Given the description of an element on the screen output the (x, y) to click on. 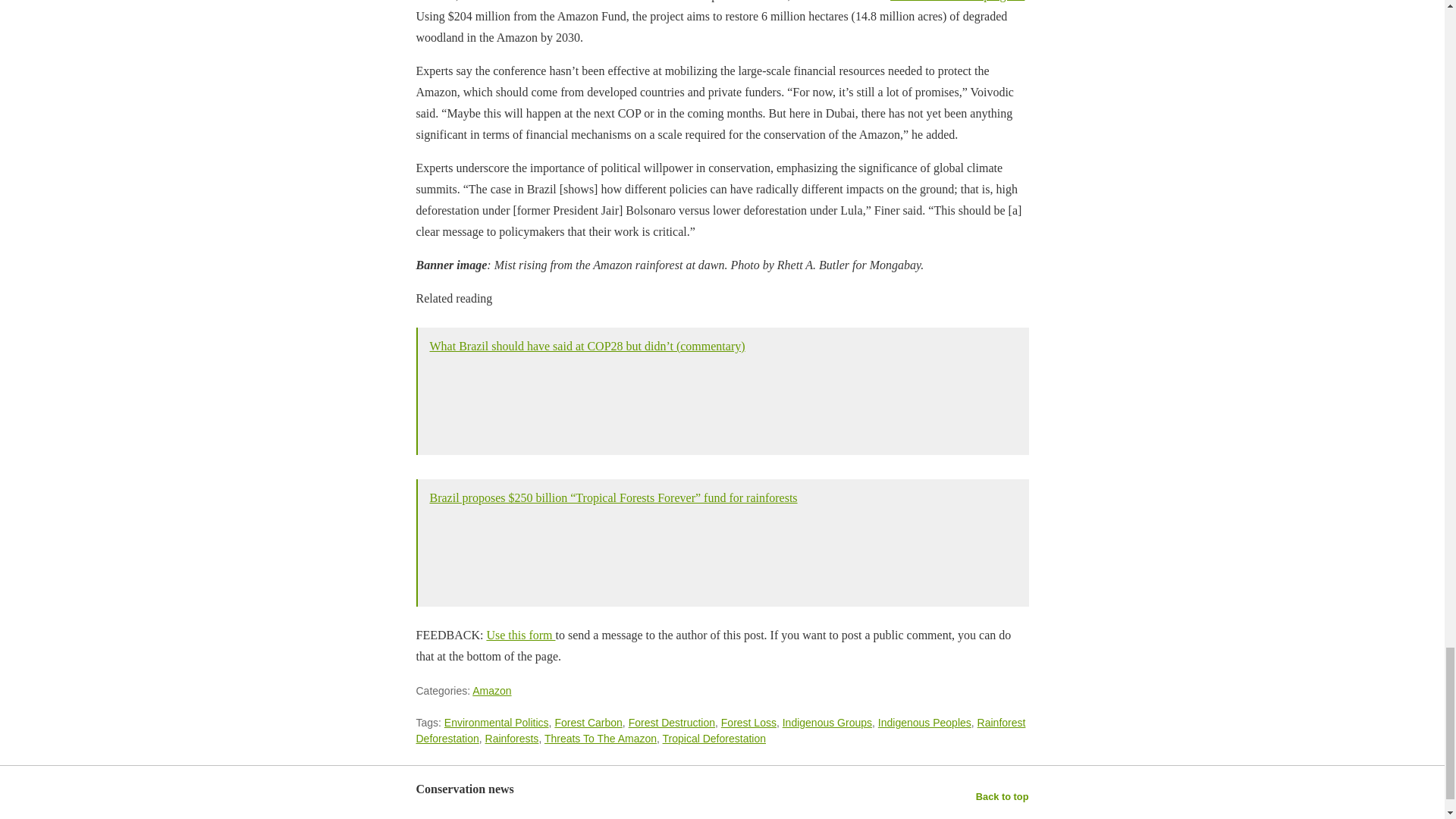
Threats To The Amazon (600, 738)
Arc of Restoration program (957, 0)
Rainforest Deforestation (719, 730)
Use this form  (520, 634)
Back to top (1002, 796)
Indigenous Peoples (924, 722)
Forest Loss (748, 722)
Forest Destruction (671, 722)
Forest Carbon (587, 722)
Amazon (491, 690)
Tropical Deforestation (713, 738)
Environmental Politics (496, 722)
Indigenous Groups (827, 722)
Rainforests (511, 738)
